Given the description of an element on the screen output the (x, y) to click on. 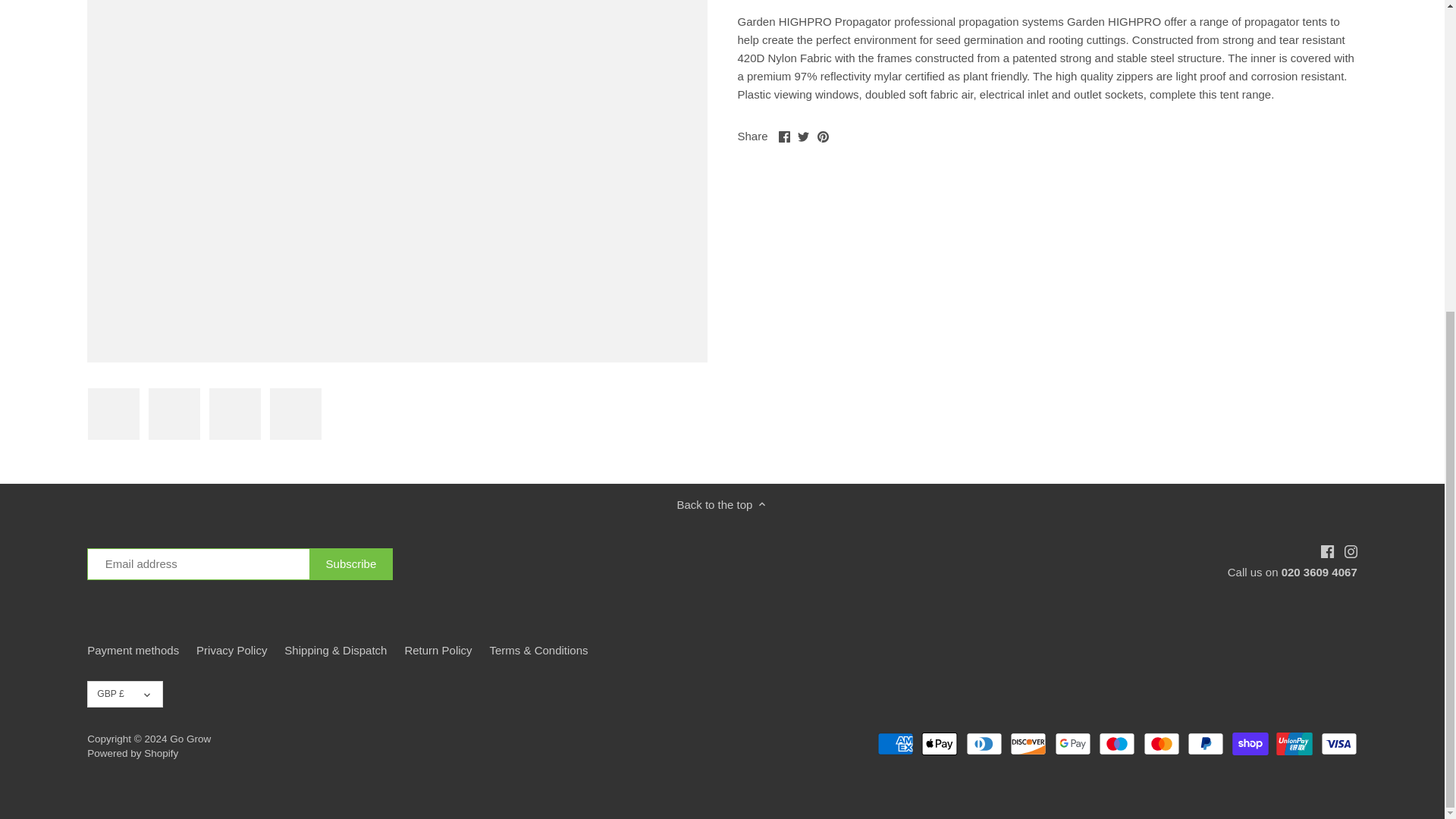
Subscribe (350, 563)
Diners Club (984, 743)
American Express (895, 743)
Instagram (1349, 551)
Google Pay (1072, 743)
Twitter (803, 136)
Apple Pay (939, 743)
Pinterest (822, 136)
Facebook (1326, 551)
Discover (1028, 743)
Facebook (784, 136)
